Given the description of an element on the screen output the (x, y) to click on. 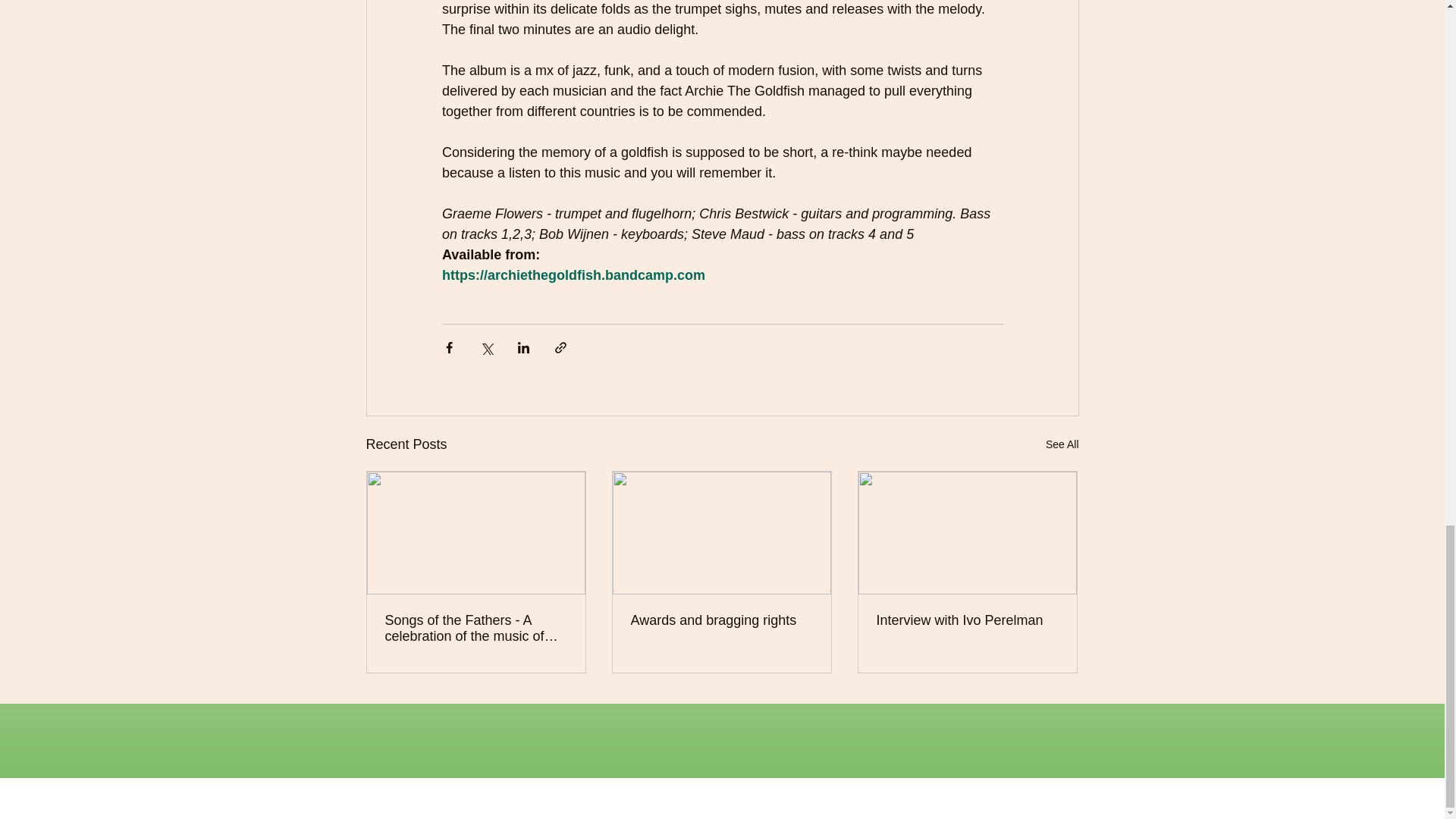
Interview with Ivo Perelman (967, 620)
Awards and bragging rights (721, 620)
See All (1061, 444)
